Given the description of an element on the screen output the (x, y) to click on. 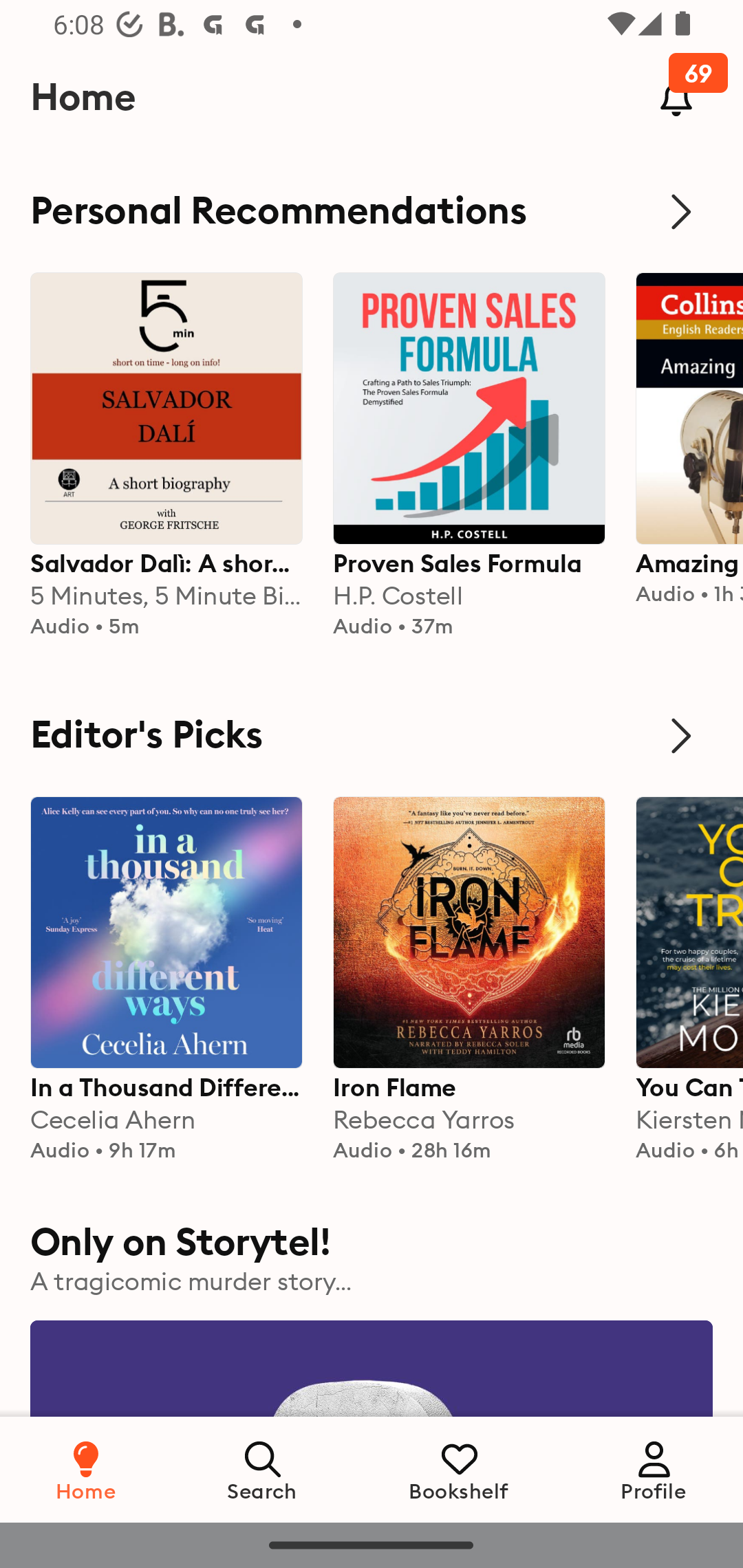
Personal Recommendations (371, 211)
Editor's Picks (371, 735)
Home (85, 1468)
Search (262, 1468)
Bookshelf (458, 1468)
Profile (653, 1468)
